Given the description of an element on the screen output the (x, y) to click on. 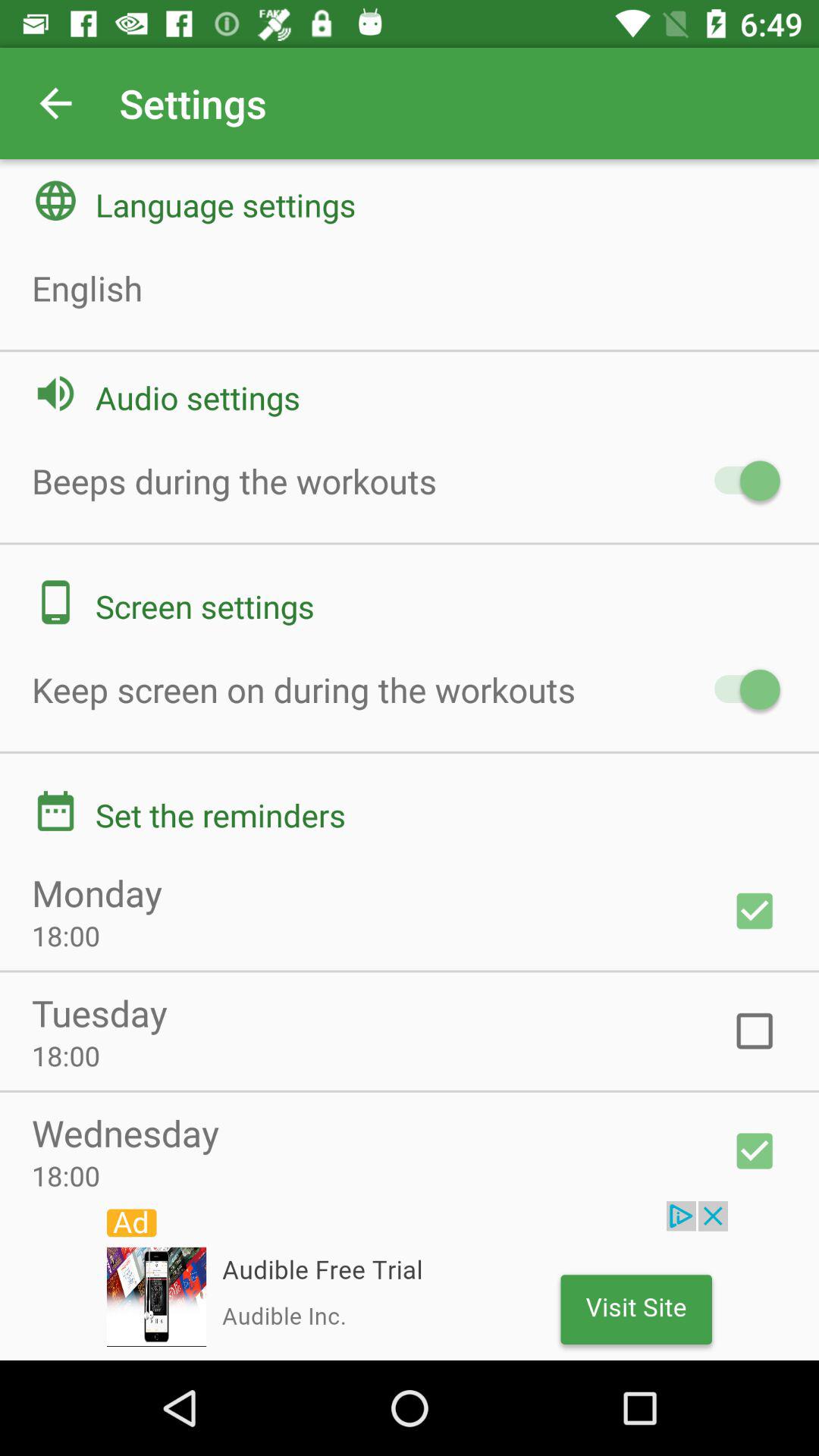
visit advertisement (409, 1280)
